Given the description of an element on the screen output the (x, y) to click on. 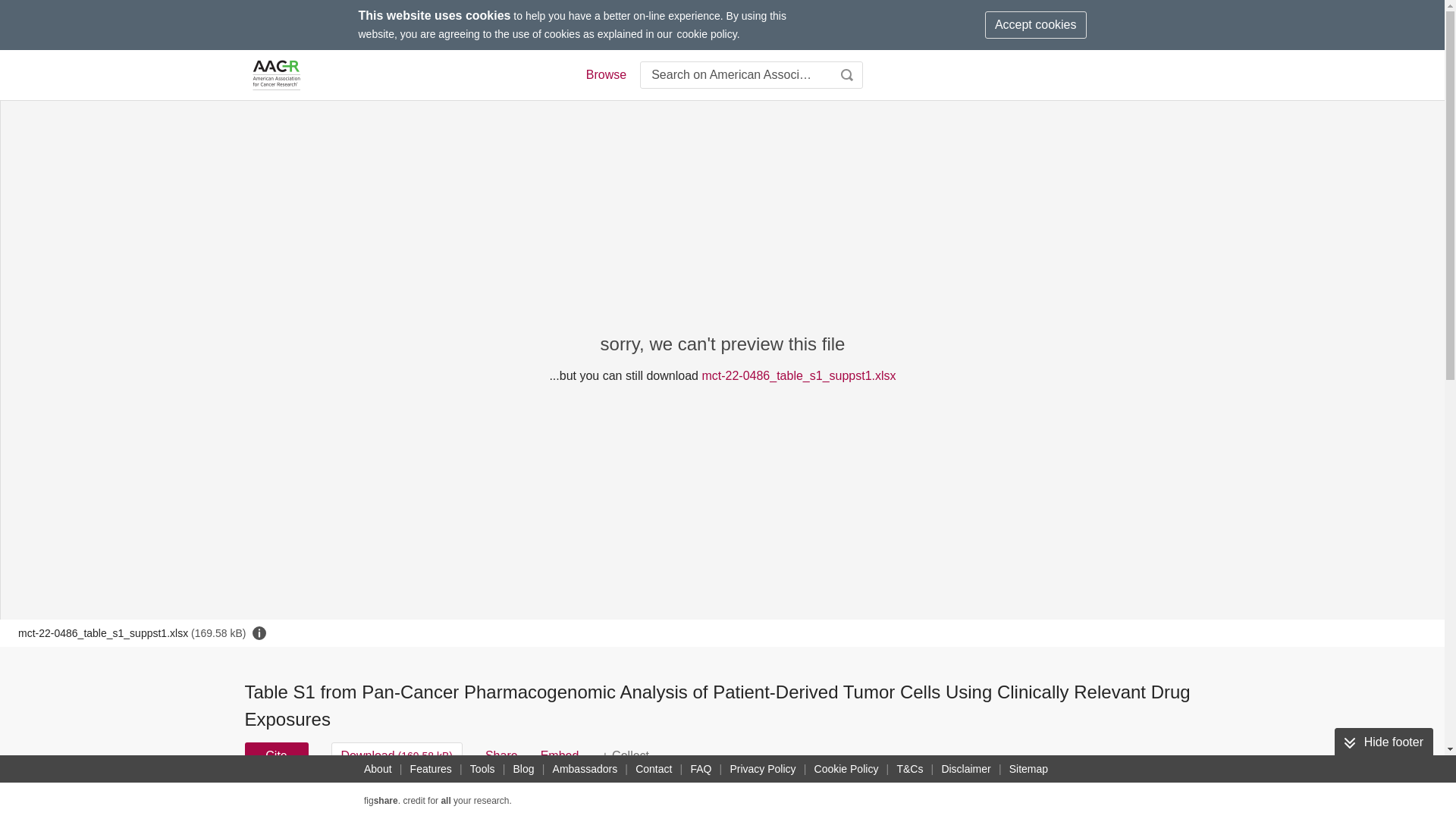
Share (501, 755)
FAQ (700, 769)
Ambassadors (585, 769)
Browse (605, 75)
Contact (653, 769)
Disclaimer (965, 769)
Embed (559, 755)
Hide footer (1383, 742)
Features (431, 769)
About (377, 769)
